Given the description of an element on the screen output the (x, y) to click on. 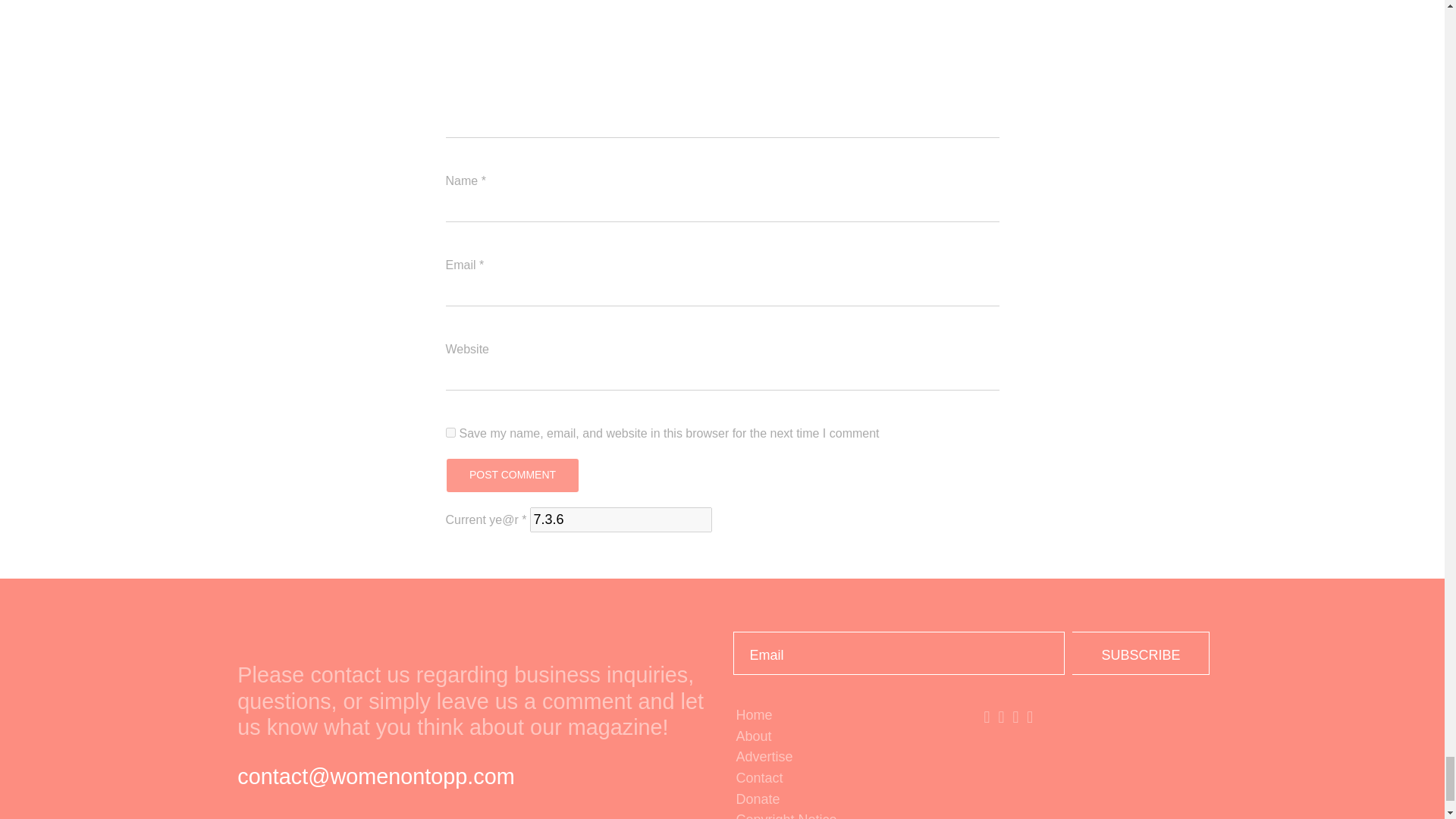
Post Comment (511, 475)
About (845, 736)
Home (845, 715)
Advertise (845, 757)
Donate (845, 799)
Subscribe (1140, 652)
Copyright Notice (845, 814)
Contact (845, 778)
yes (450, 432)
7.3.6 (620, 519)
